Given the description of an element on the screen output the (x, y) to click on. 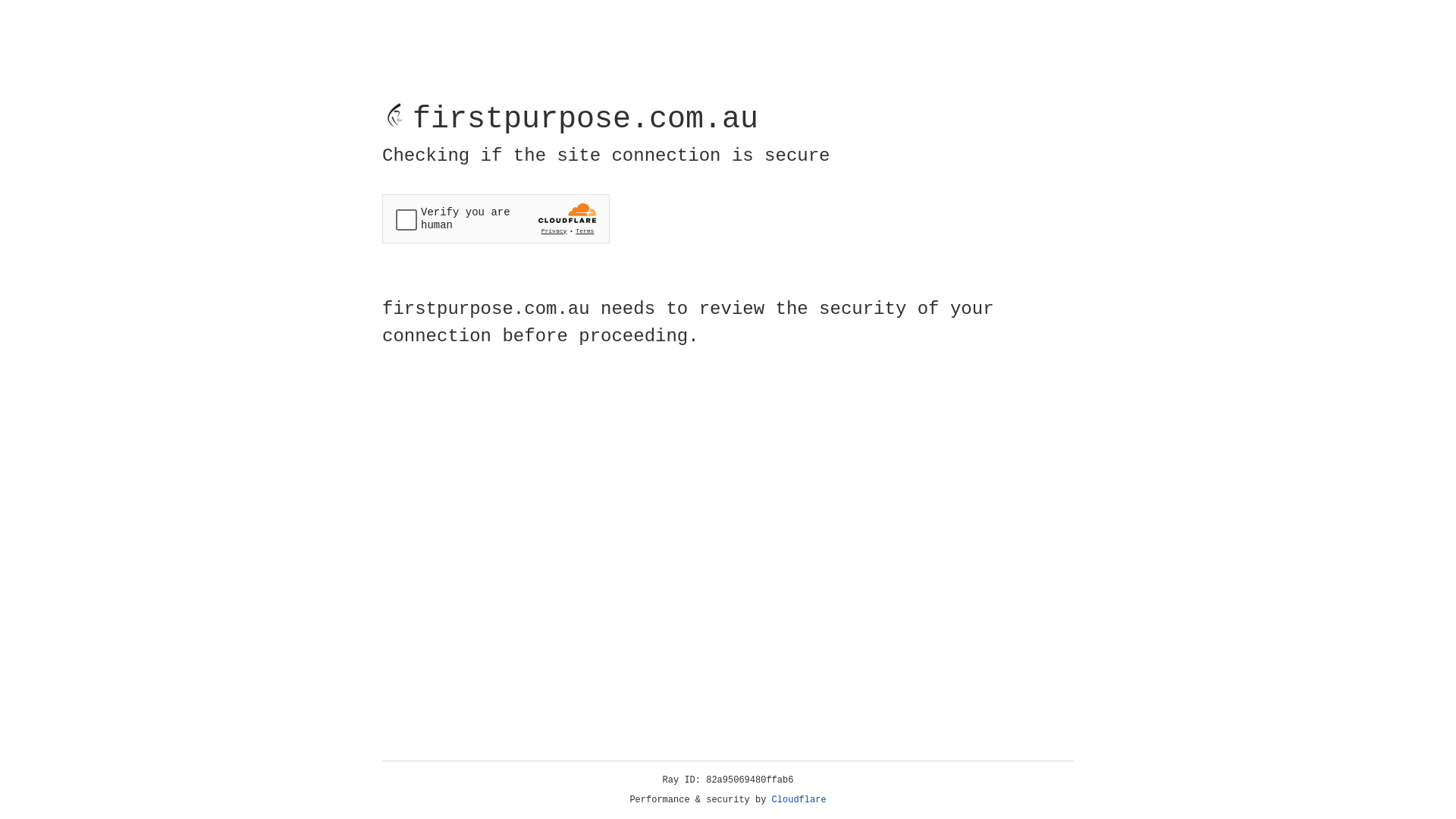
Cloudflare Element type: text (798, 799)
Widget containing a Cloudflare security challenge Element type: hover (495, 218)
